Given the description of an element on the screen output the (x, y) to click on. 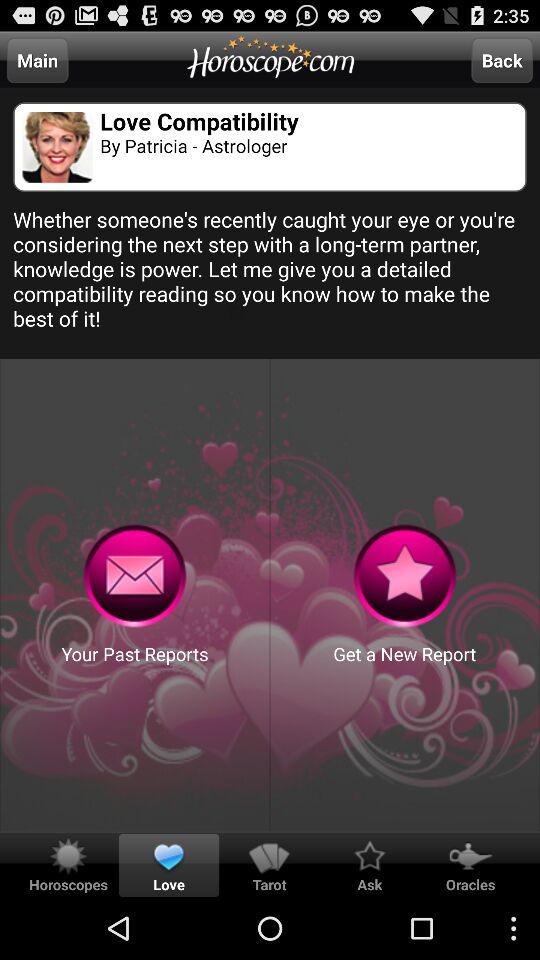
past reports senting button (134, 575)
